Given the description of an element on the screen output the (x, y) to click on. 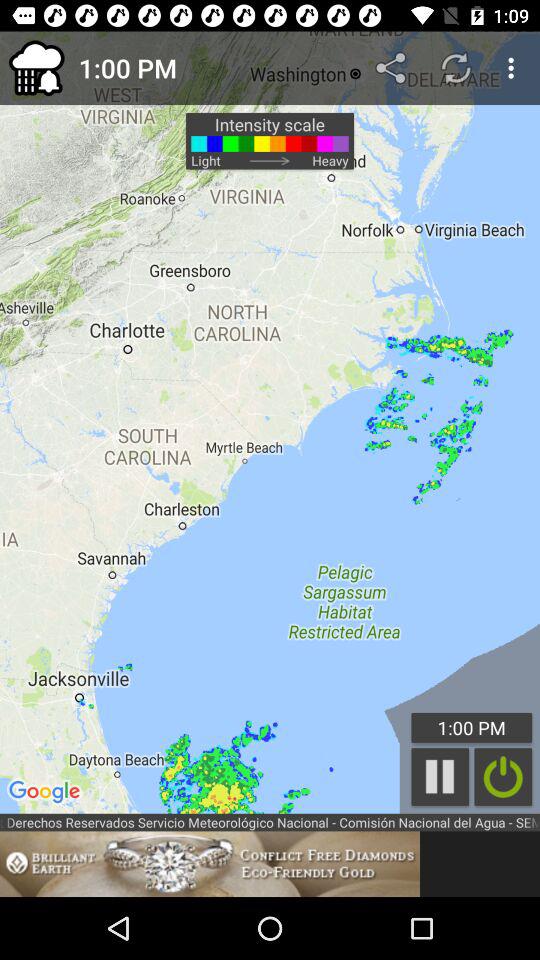
go to advertisement web page (210, 864)
